Given the description of an element on the screen output the (x, y) to click on. 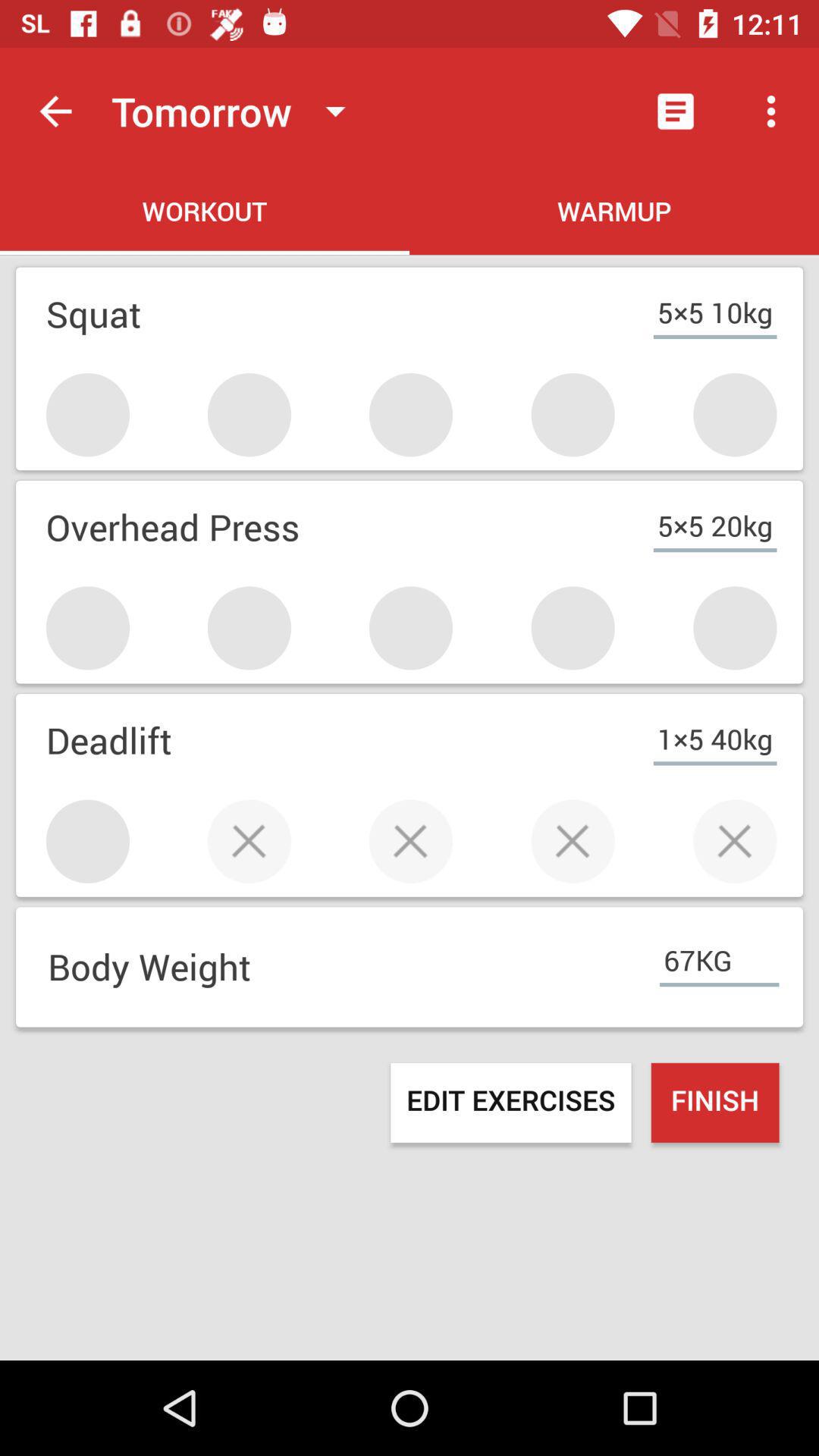
swipe until the tomorrow (235, 110)
